Given the description of an element on the screen output the (x, y) to click on. 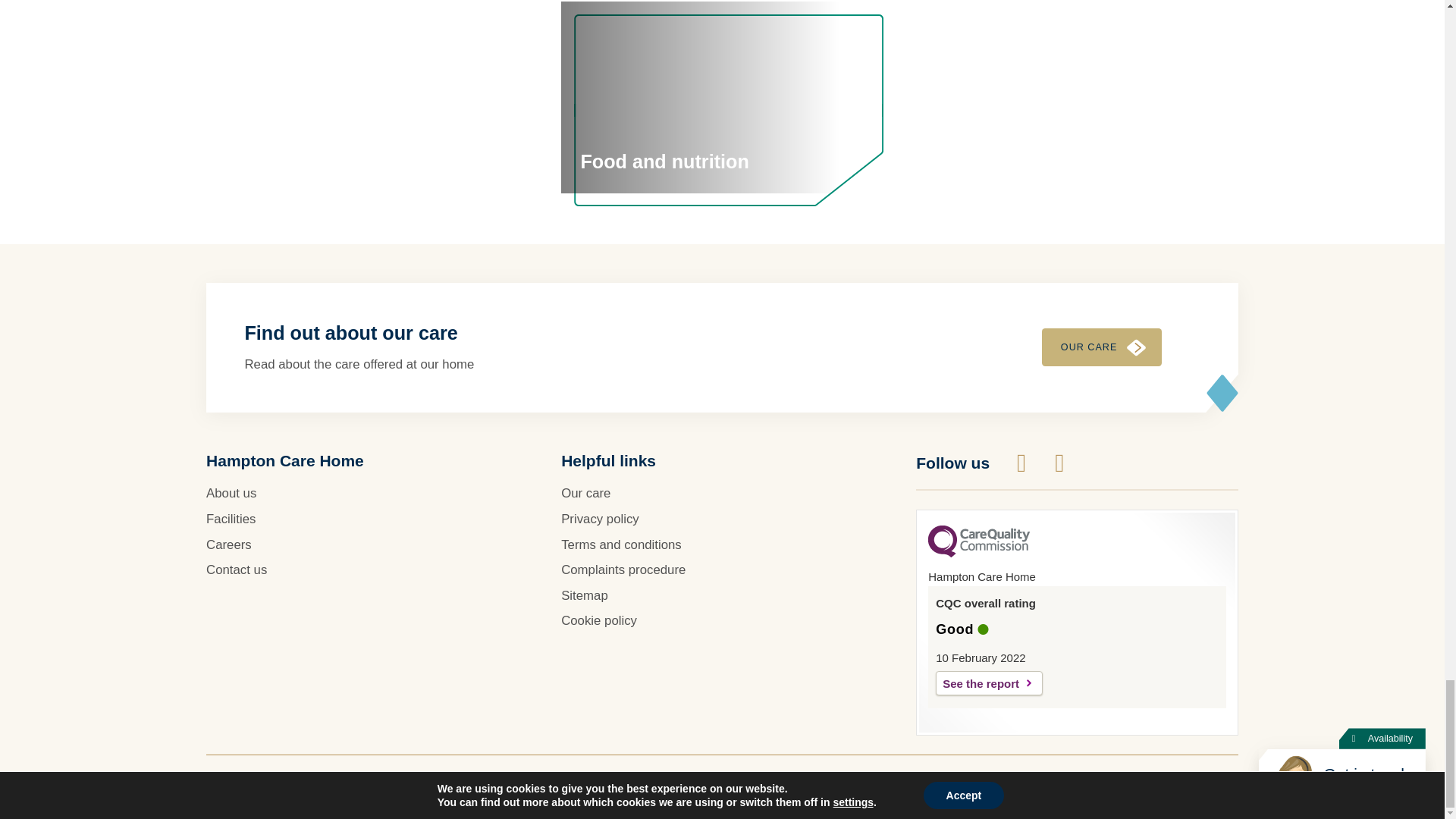
CQC Logo (978, 553)
